Given the description of an element on the screen output the (x, y) to click on. 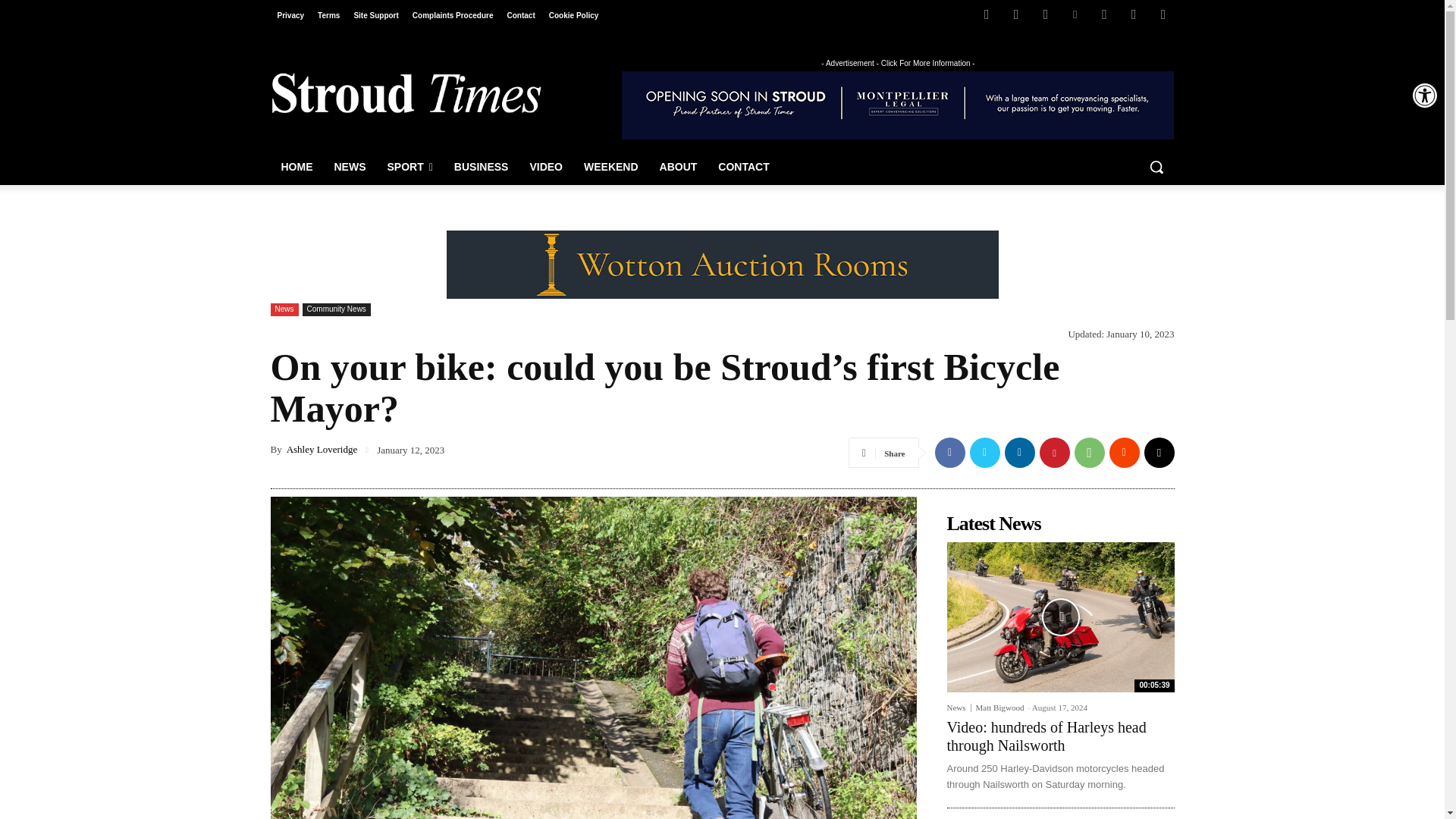
Facebook (986, 14)
Flipboard (1016, 14)
Privacy (290, 15)
Accessibility Tools (1424, 95)
Terms (328, 15)
